Given the description of an element on the screen output the (x, y) to click on. 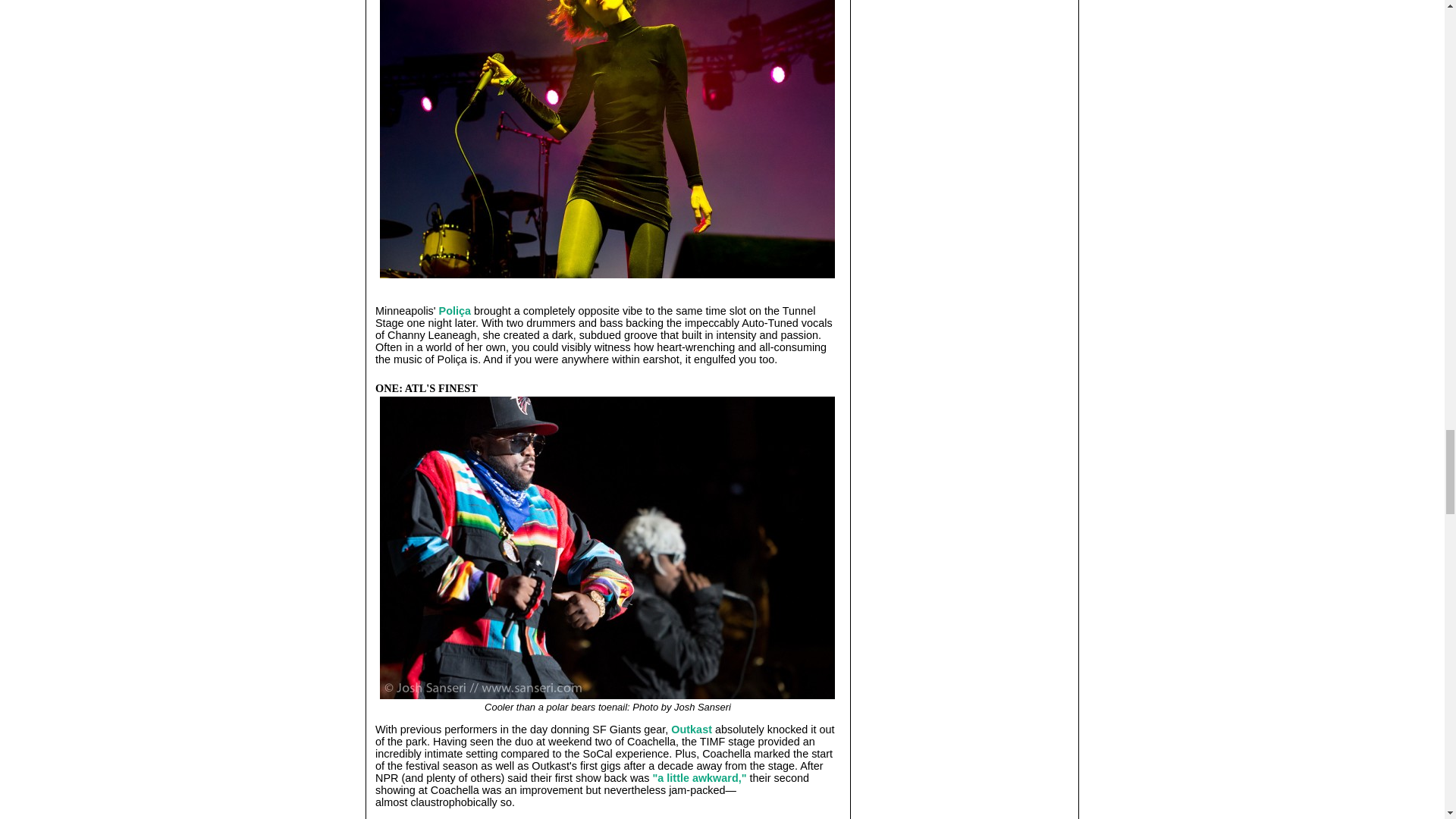
Outkast (691, 729)
"a little awkward," (699, 777)
